Given the description of an element on the screen output the (x, y) to click on. 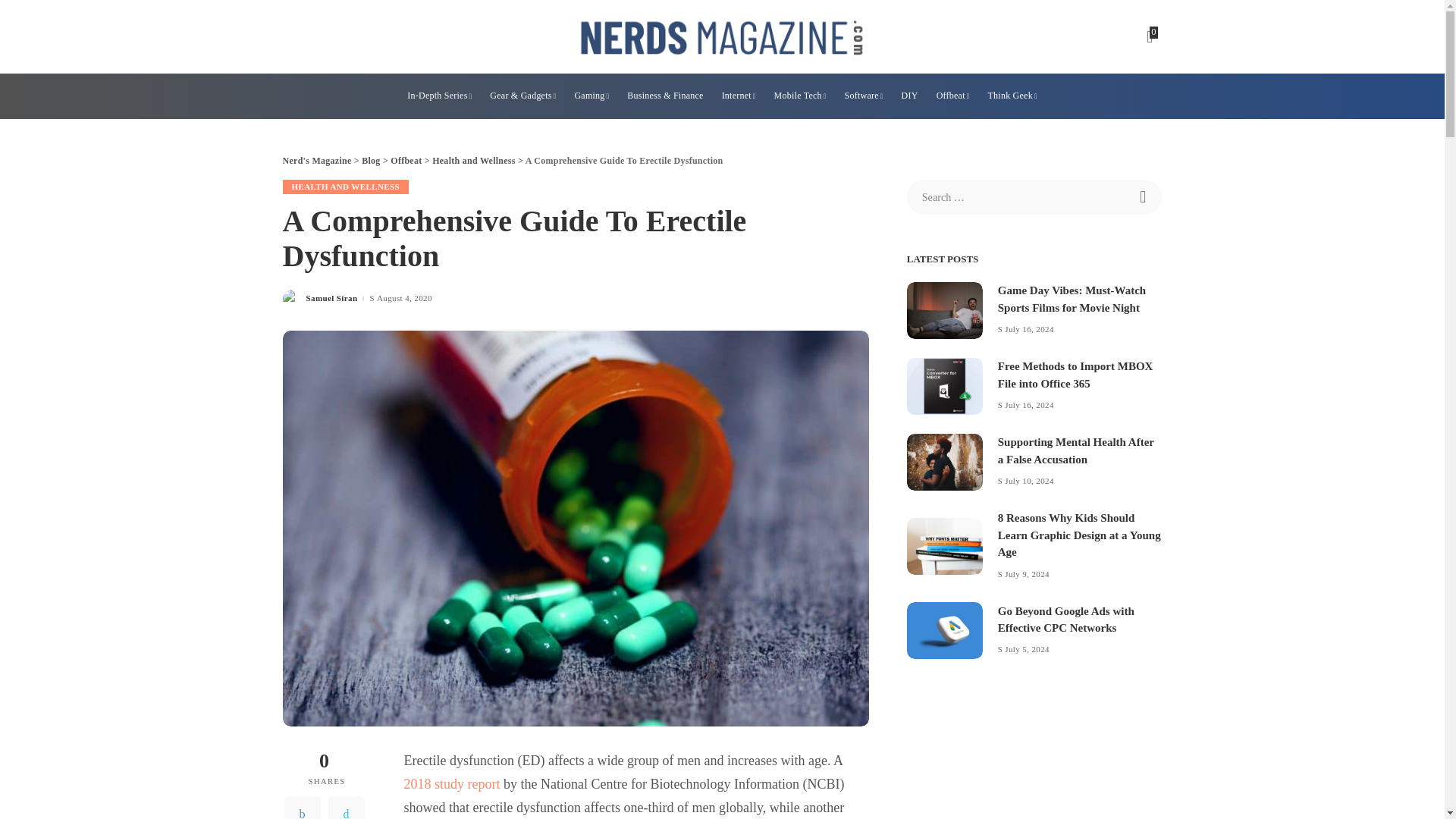
Go to Blog. (370, 160)
In-Depth Series (438, 95)
Go to Nerd's Magazine. (316, 160)
Gaming (590, 95)
Search (1143, 196)
Bookmarks (1151, 37)
0 (1151, 37)
Search (1143, 196)
Go to the Health and Wellness Category archives. (473, 160)
2020-08-04T12:33:14-05:00 (404, 298)
Go to the Offbeat Category archives. (406, 160)
Facebook (301, 807)
Twitter (345, 807)
Nerd's Magazine (722, 36)
